Given the description of an element on the screen output the (x, y) to click on. 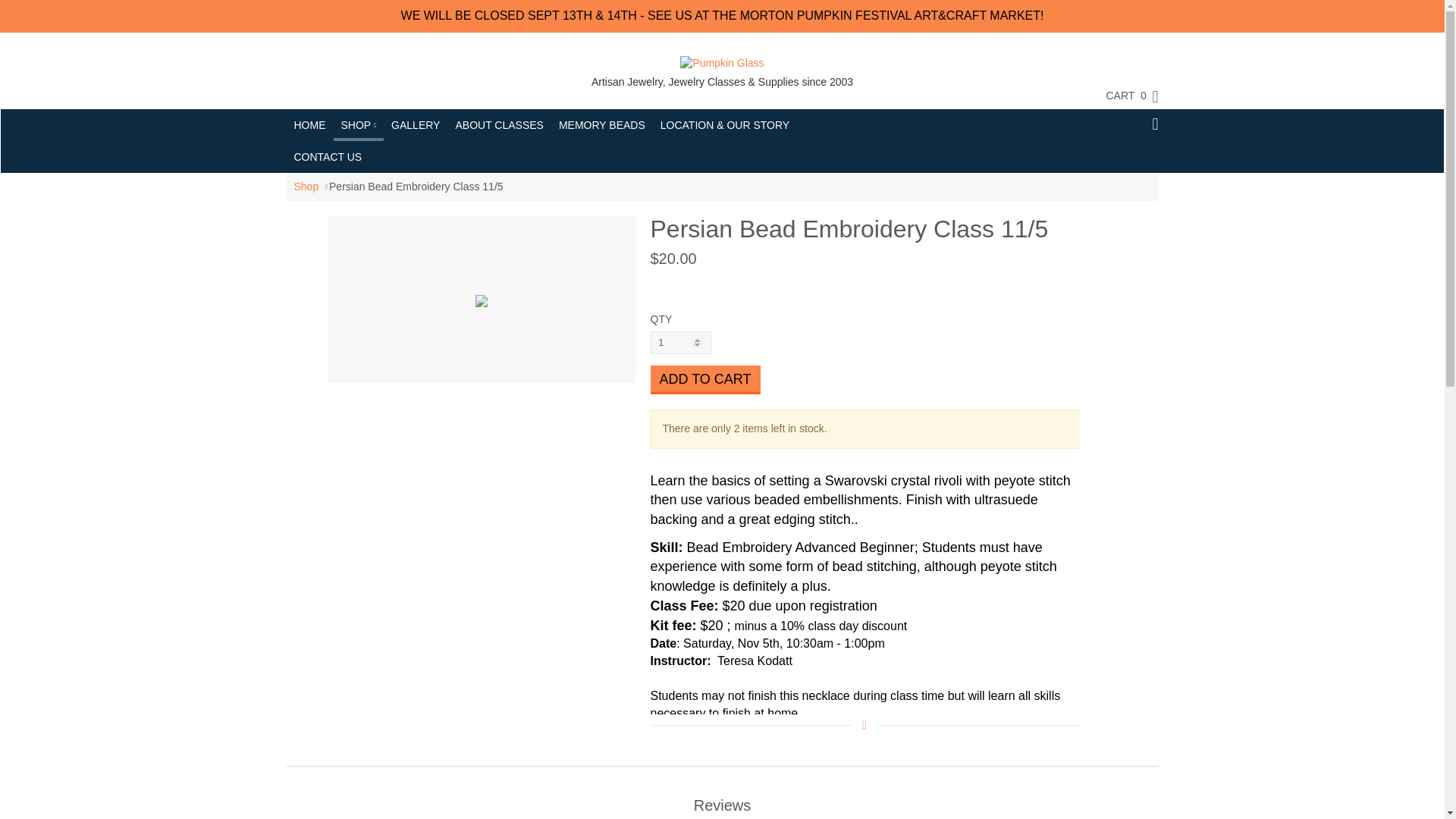
Add to Cart (705, 379)
1 (680, 342)
HOME (309, 124)
SHOP (358, 123)
CART  0   (1123, 95)
